Given the description of an element on the screen output the (x, y) to click on. 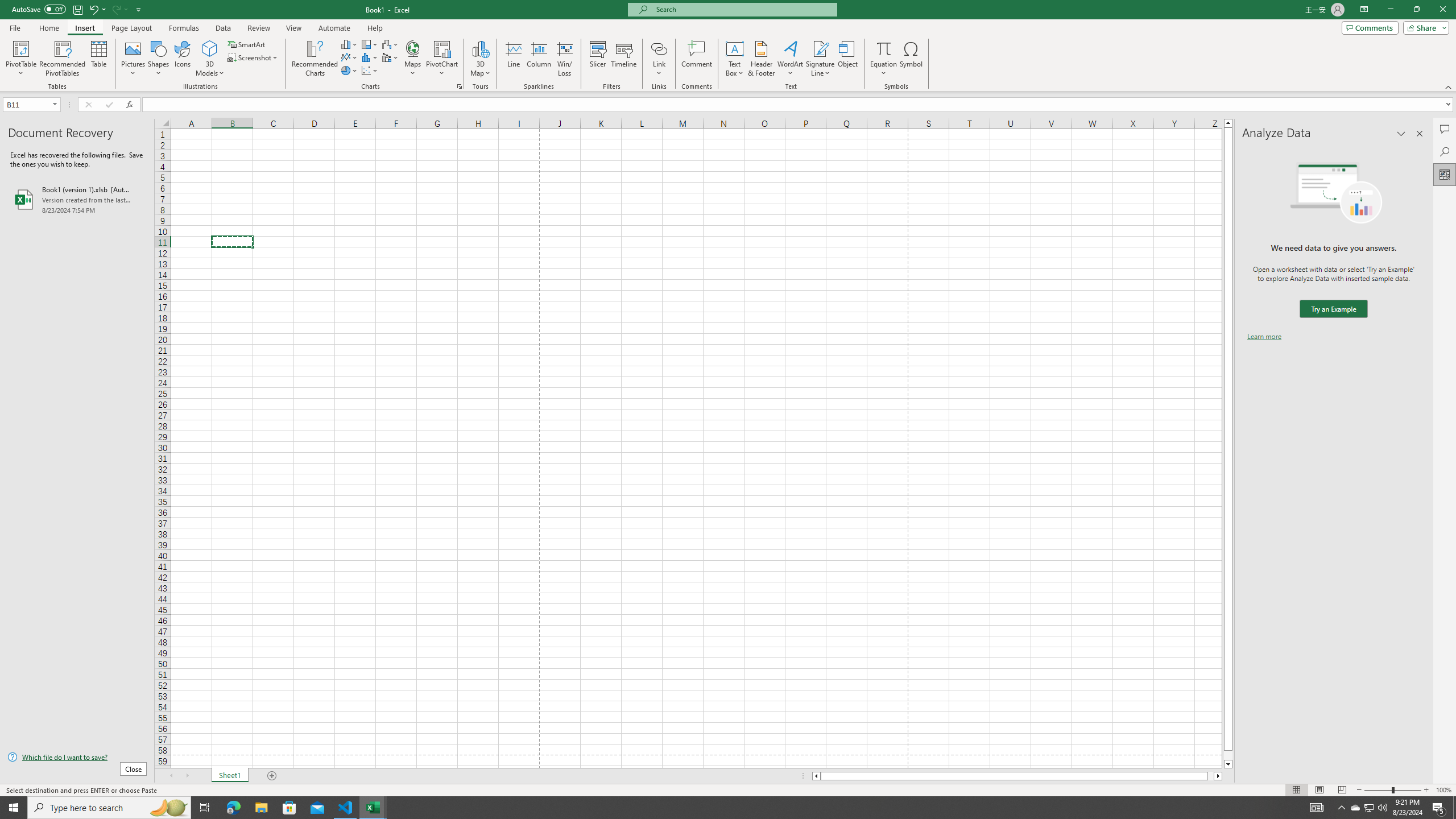
Insert Pie or Doughnut Chart (349, 69)
Link (659, 58)
Line (513, 58)
Recommended Charts (459, 85)
3D Models (210, 48)
We need data to give you answers. Try an Example (1333, 308)
Link (659, 48)
Insert Combo Chart (390, 56)
Equation (883, 58)
PivotTable (20, 58)
Insert Statistic Chart (369, 56)
